Given the description of an element on the screen output the (x, y) to click on. 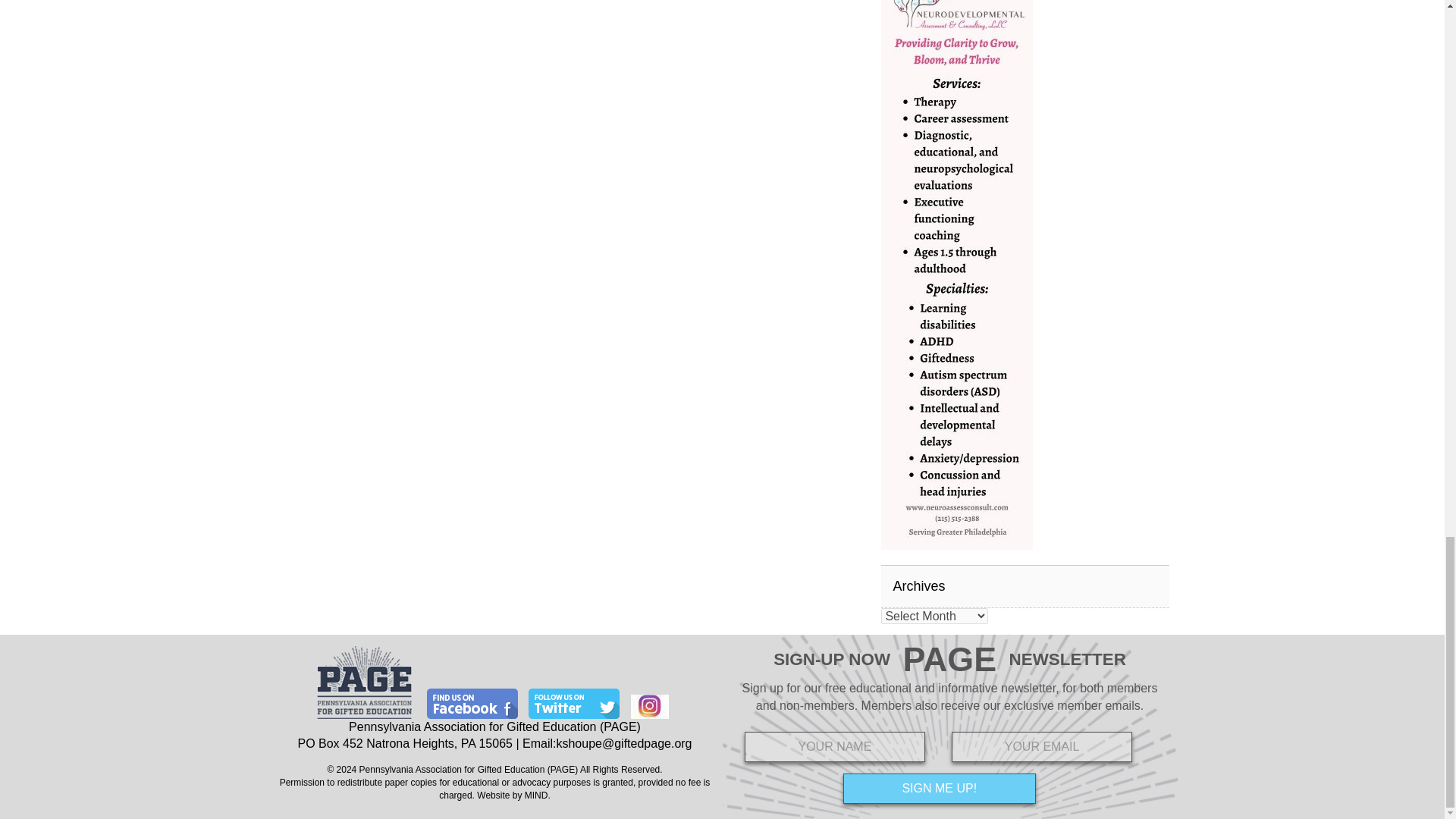
Sign Me Up! (939, 788)
